Given the description of an element on the screen output the (x, y) to click on. 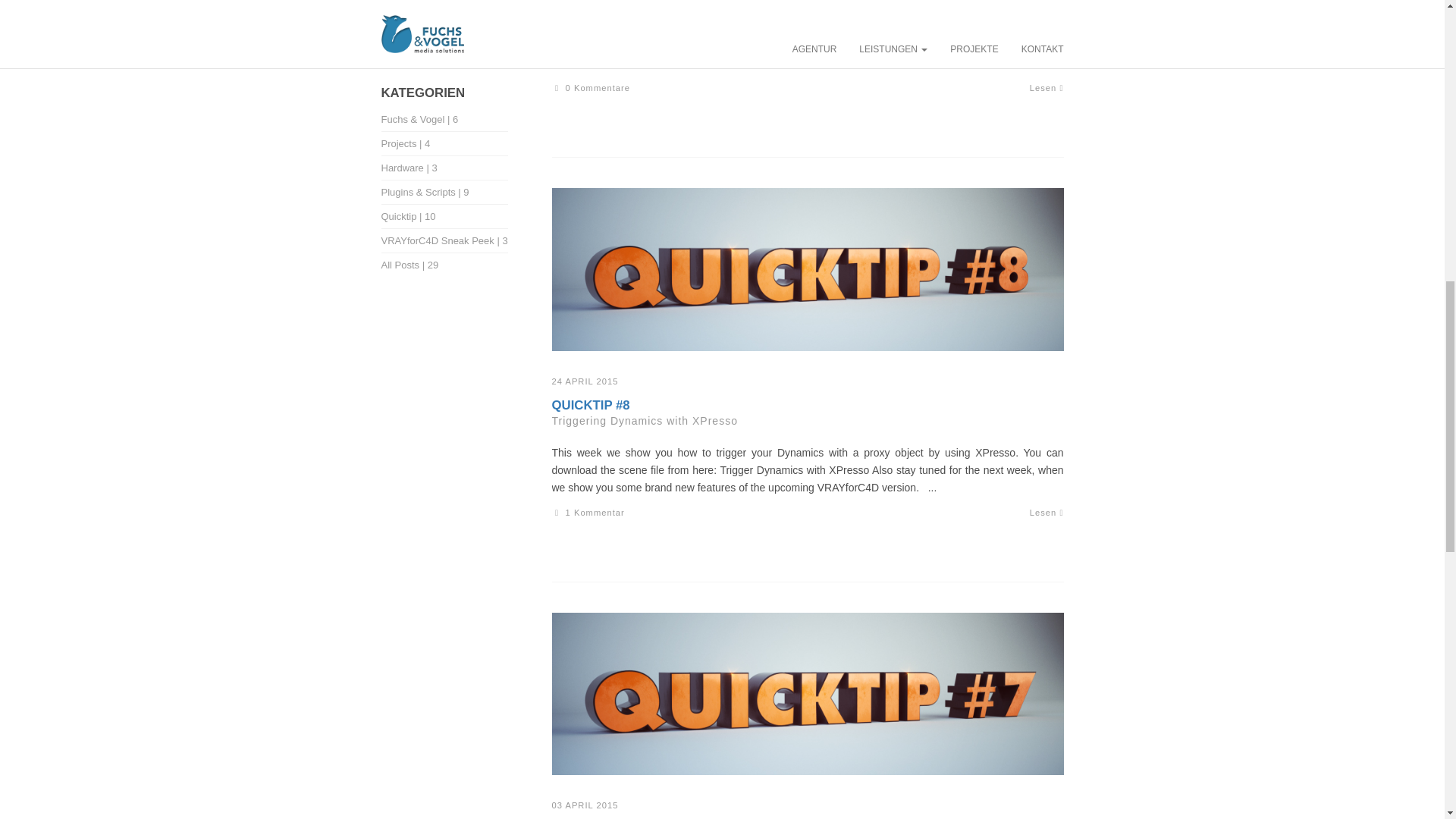
Lesen (1046, 511)
Lesen (1046, 87)
0 Kommentare (590, 87)
1 Kommentar (587, 511)
